Given the description of an element on the screen output the (x, y) to click on. 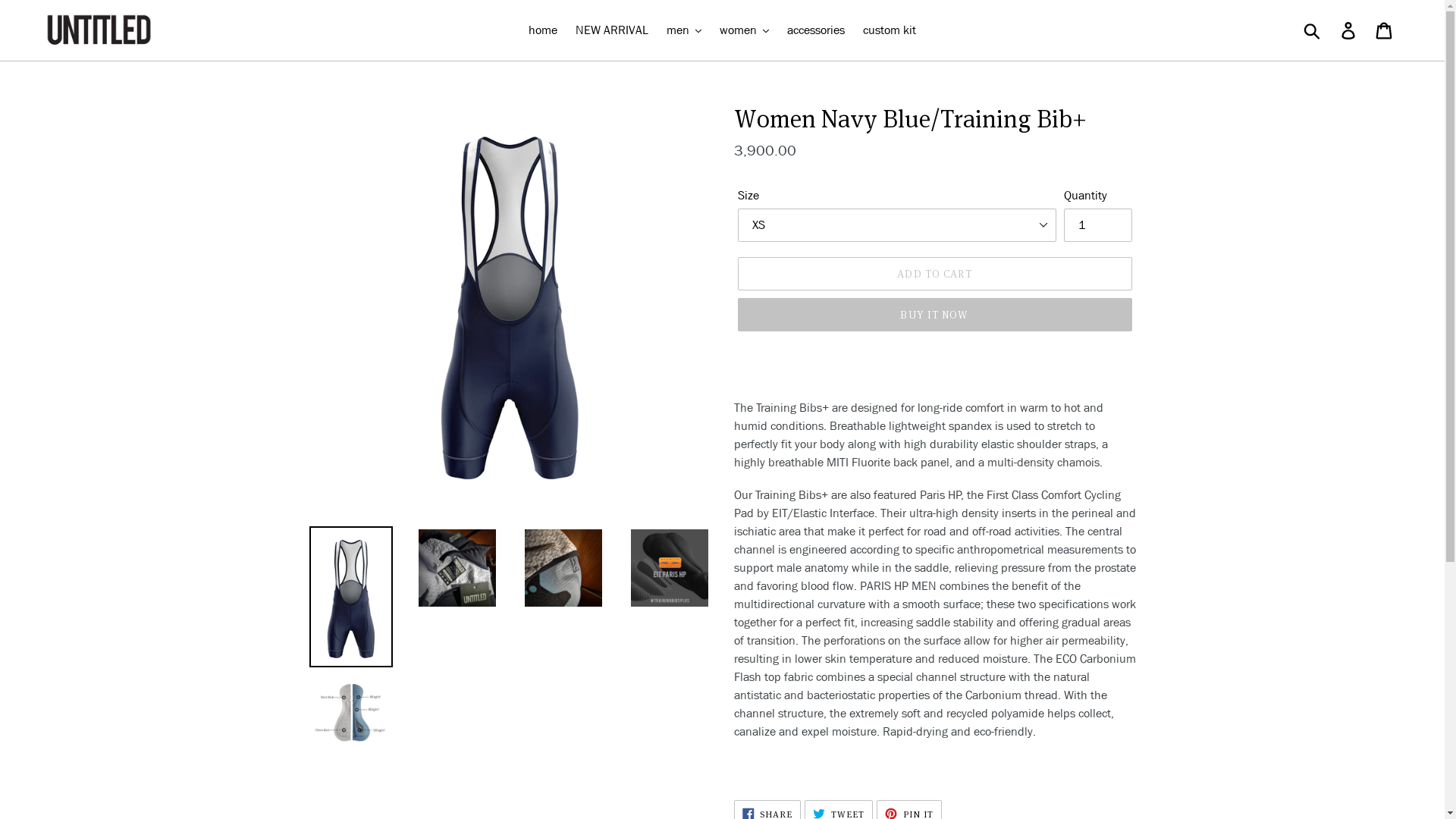
home Element type: text (542, 29)
ADD TO CART Element type: text (934, 273)
Cart Element type: text (1384, 30)
accessories Element type: text (815, 29)
custom kit Element type: text (889, 29)
NEW ARRIVAL Element type: text (611, 29)
BUY IT NOW Element type: text (934, 314)
Submit Element type: text (1312, 30)
Log in Element type: text (1349, 30)
